Given the description of an element on the screen output the (x, y) to click on. 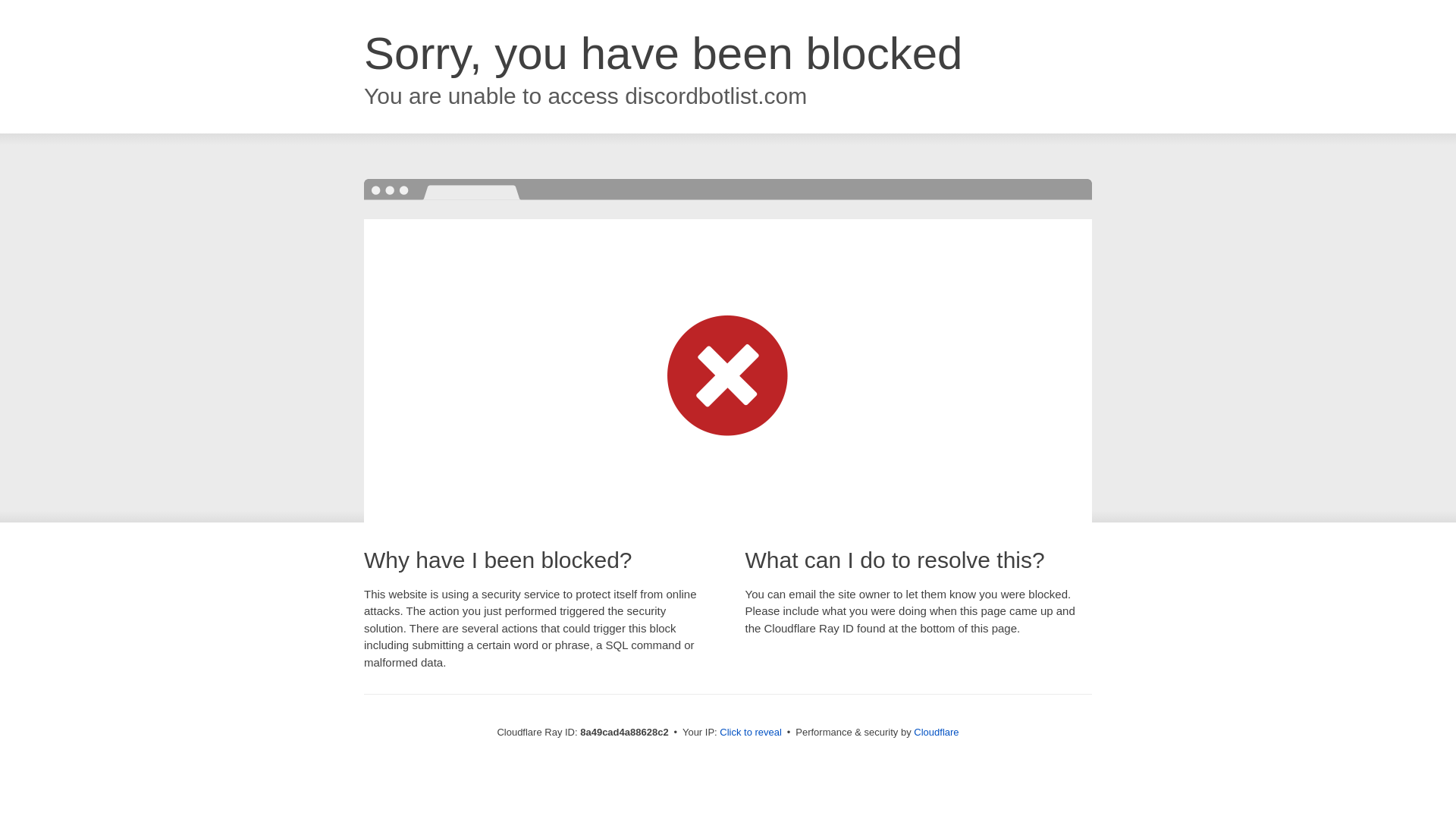
Click to reveal (750, 732)
Cloudflare (936, 731)
